Given the description of an element on the screen output the (x, y) to click on. 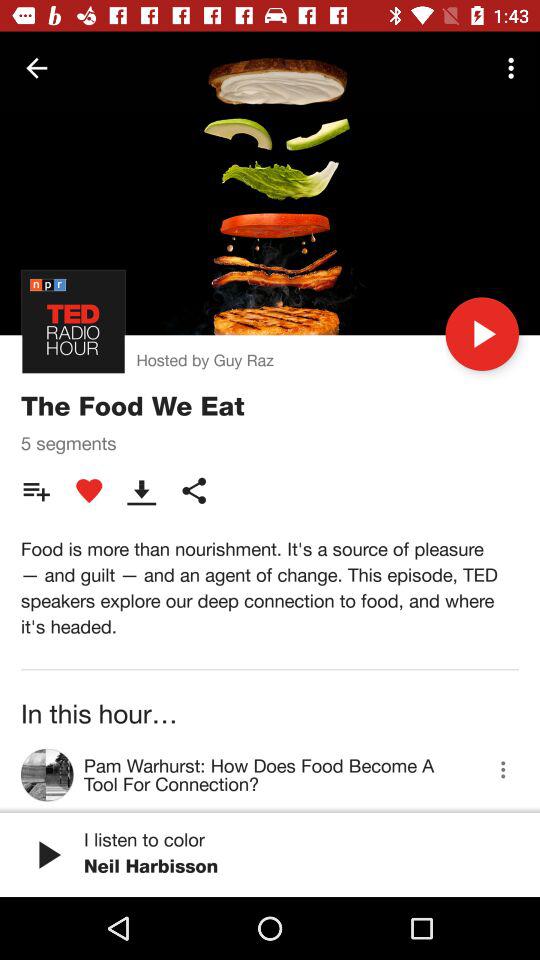
tap the icon next to hosted by guy item (482, 333)
